Given the description of an element on the screen output the (x, y) to click on. 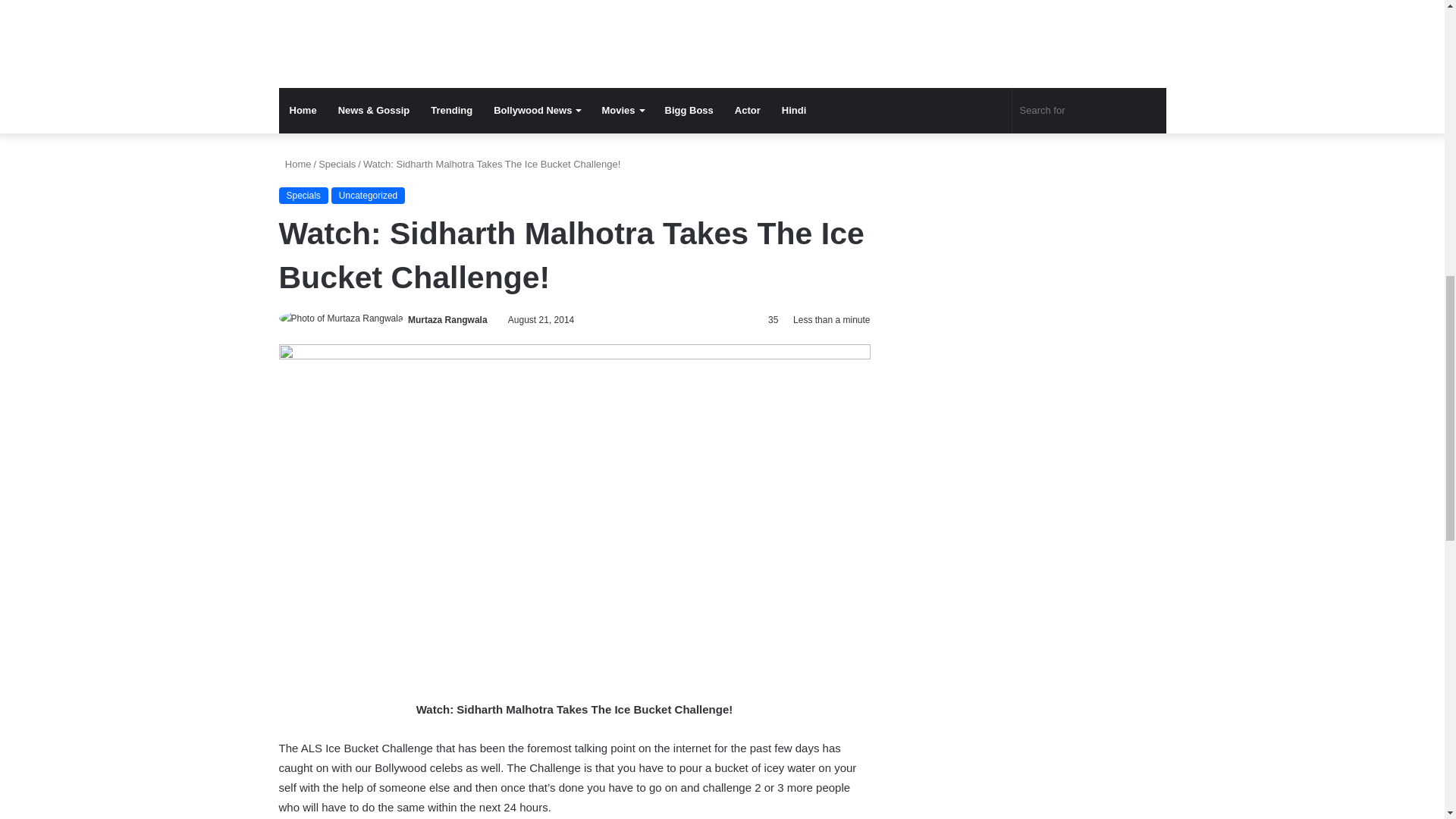
Trending (451, 110)
Movies (622, 110)
Specials (304, 195)
Murtaza Rangwala (447, 319)
Bigg Boss (688, 110)
Murtaza Rangwala (447, 319)
Specials (336, 163)
Hindi (793, 110)
Home (295, 163)
Home (303, 110)
